Given the description of an element on the screen output the (x, y) to click on. 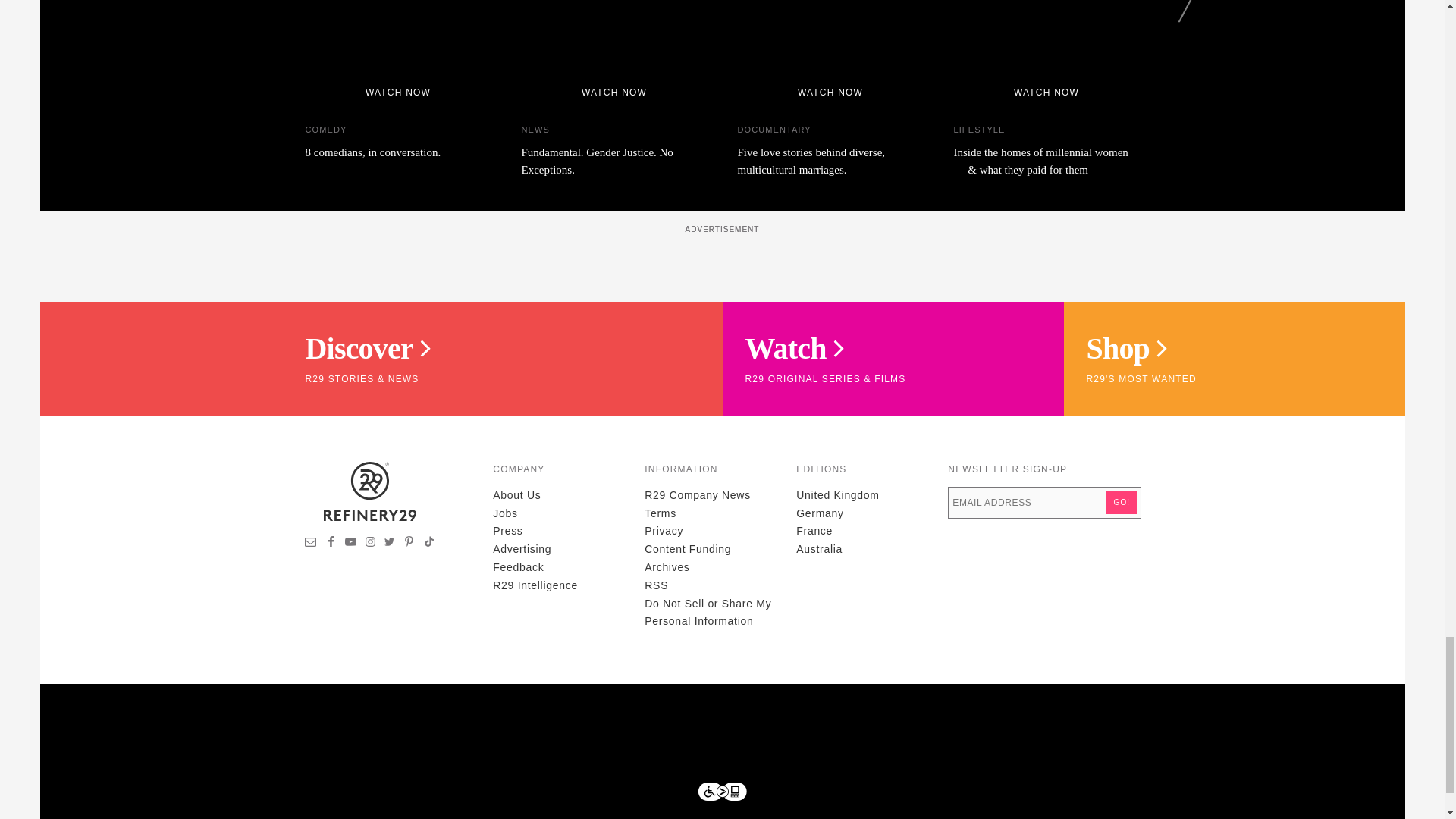
Visit Refinery29 on YouTube (350, 543)
Visit Refinery29 on TikTok (428, 543)
Sign up for newsletters (310, 543)
